Given the description of an element on the screen output the (x, y) to click on. 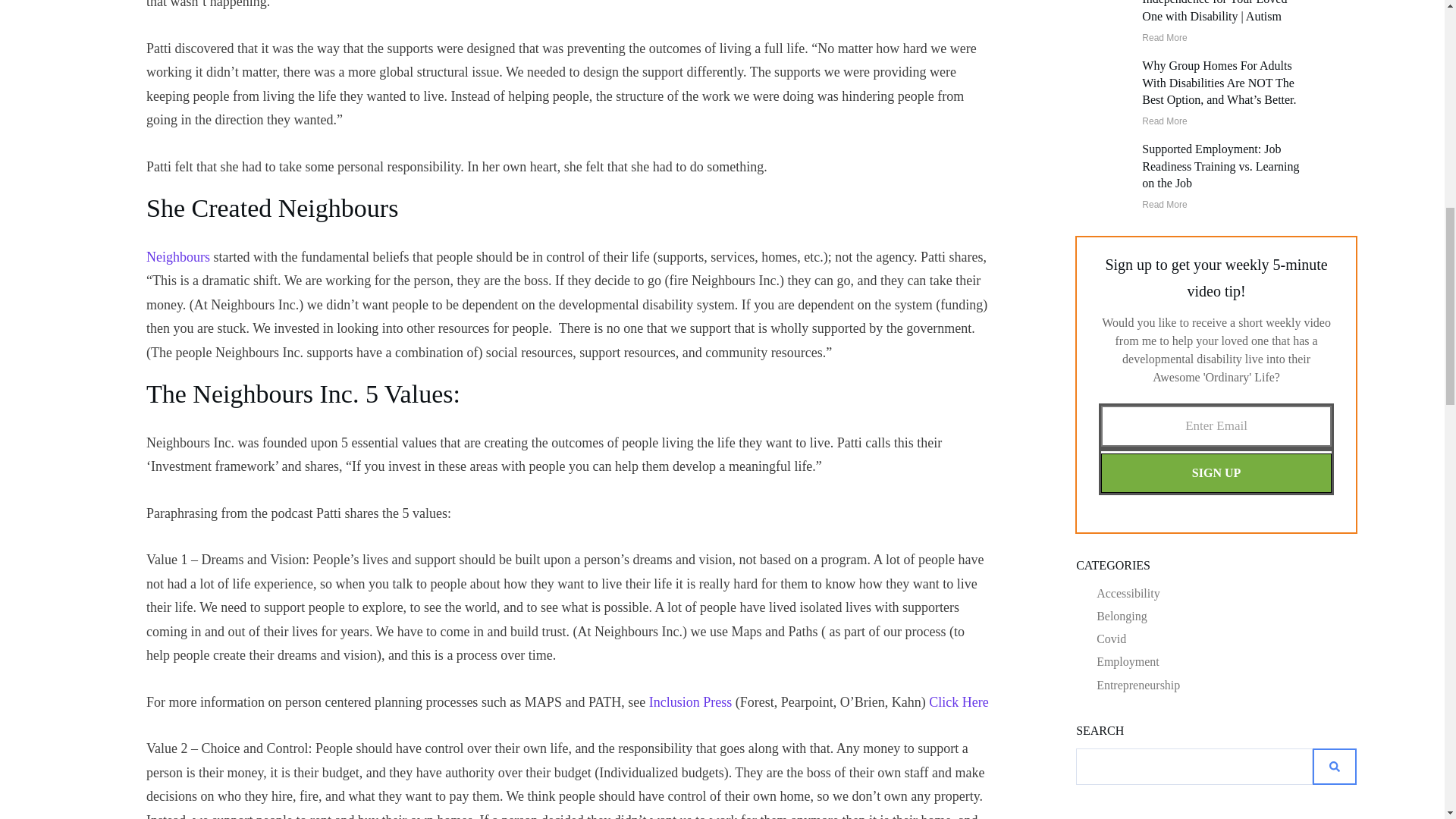
Read More (1163, 204)
Entrepreneurship (1137, 684)
Read More (1163, 121)
Accessibility (1128, 592)
Employment (1127, 660)
Read More (1163, 37)
Inclusion Press (690, 702)
Neighbours (178, 256)
Belonging (1121, 615)
Covid (1110, 638)
Click Here (958, 702)
SIGN UP (1216, 473)
